Given the description of an element on the screen output the (x, y) to click on. 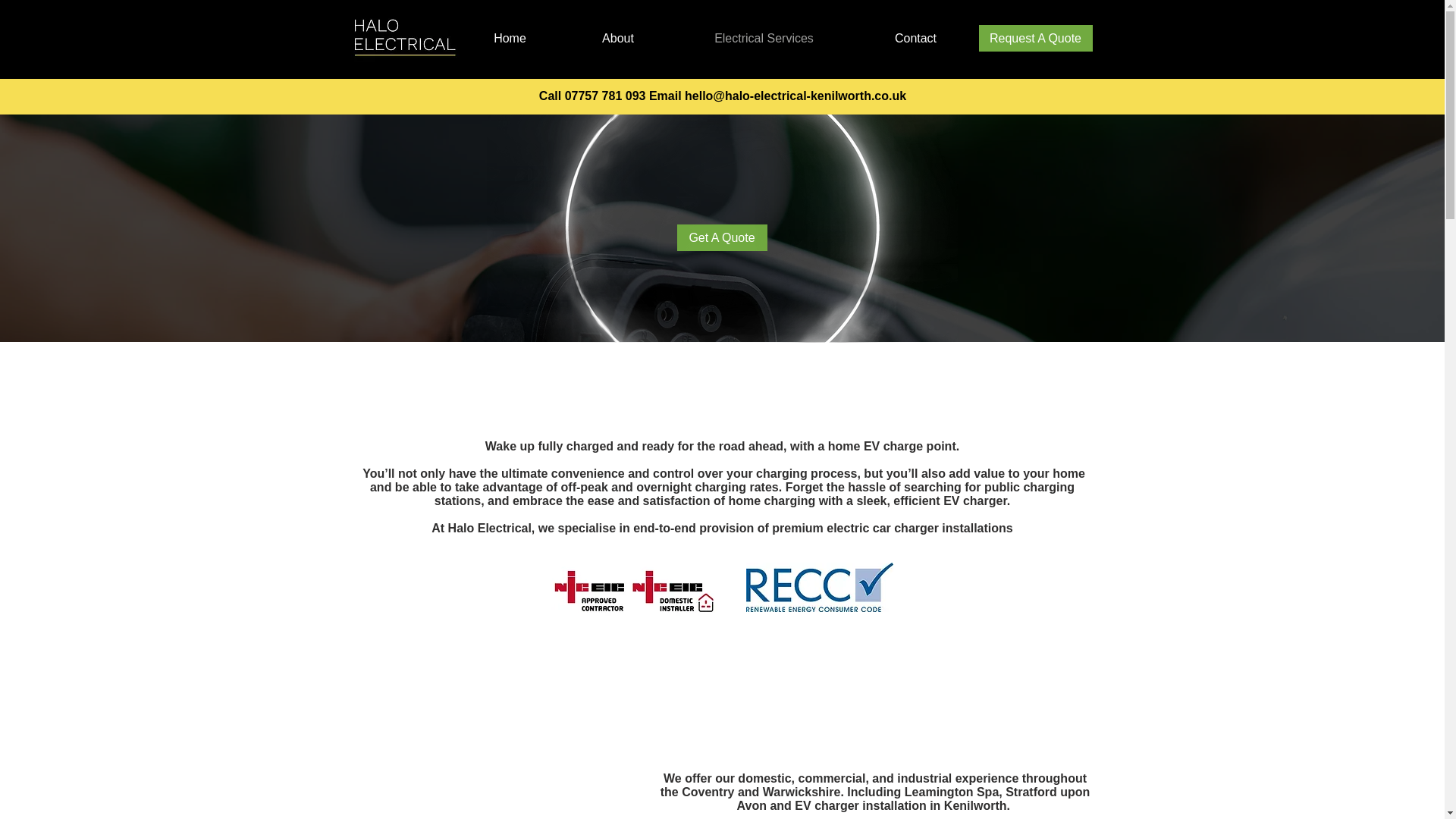
Email (665, 95)
Call (549, 95)
Home (510, 37)
Contact (915, 37)
Electrical Services (763, 37)
Request A Quote (1035, 38)
About (618, 37)
Get A Quote (722, 237)
07757 781 093 (605, 95)
